Given the description of an element on the screen output the (x, y) to click on. 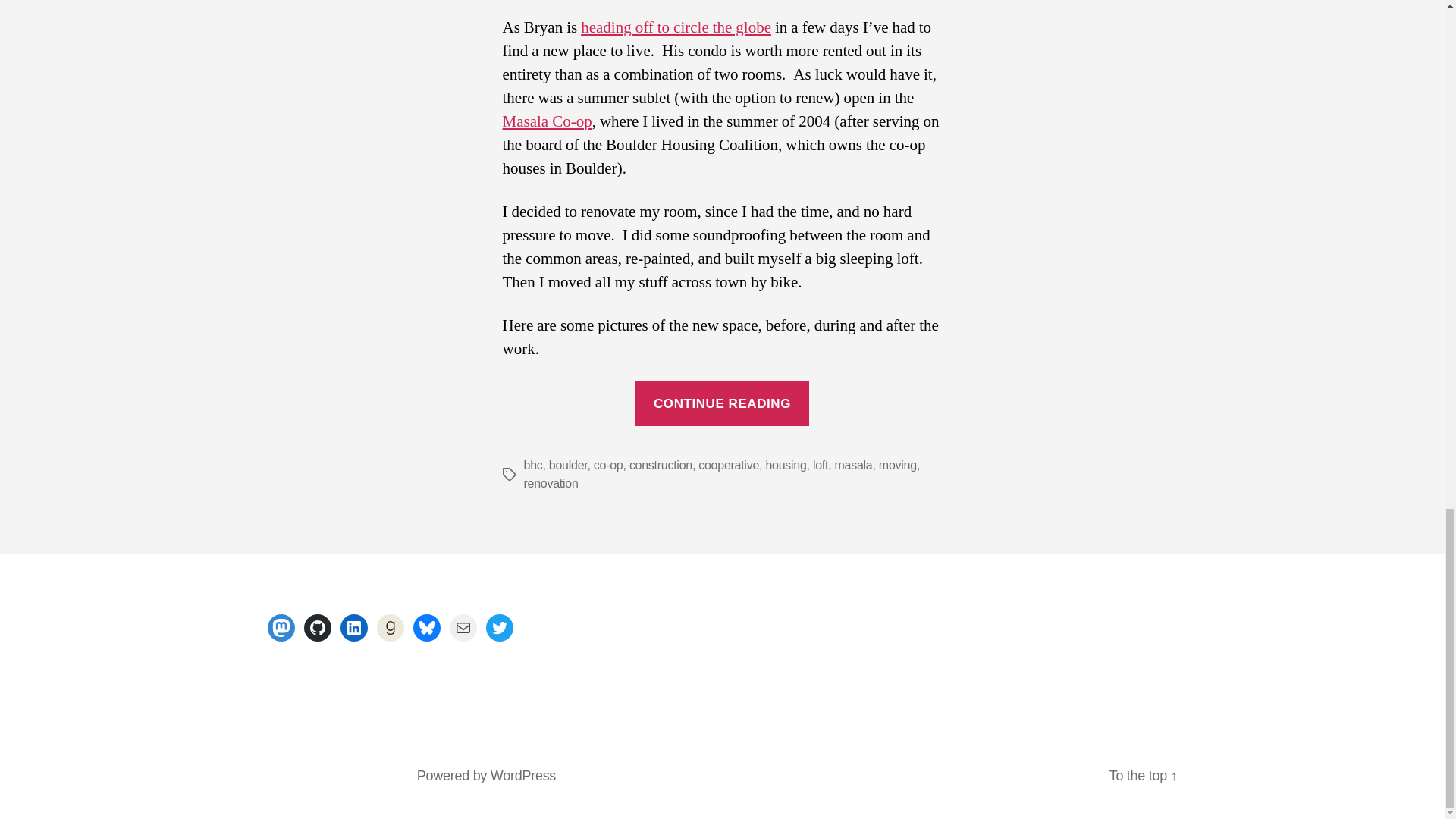
construction (660, 464)
heading off to circle the globe (675, 27)
Biking Around Again (675, 27)
boulder (568, 464)
co-op (608, 464)
Masala Co-op (546, 121)
housing (785, 464)
cooperative (728, 464)
bhc (531, 464)
The Masala Co-op (546, 121)
